Given the description of an element on the screen output the (x, y) to click on. 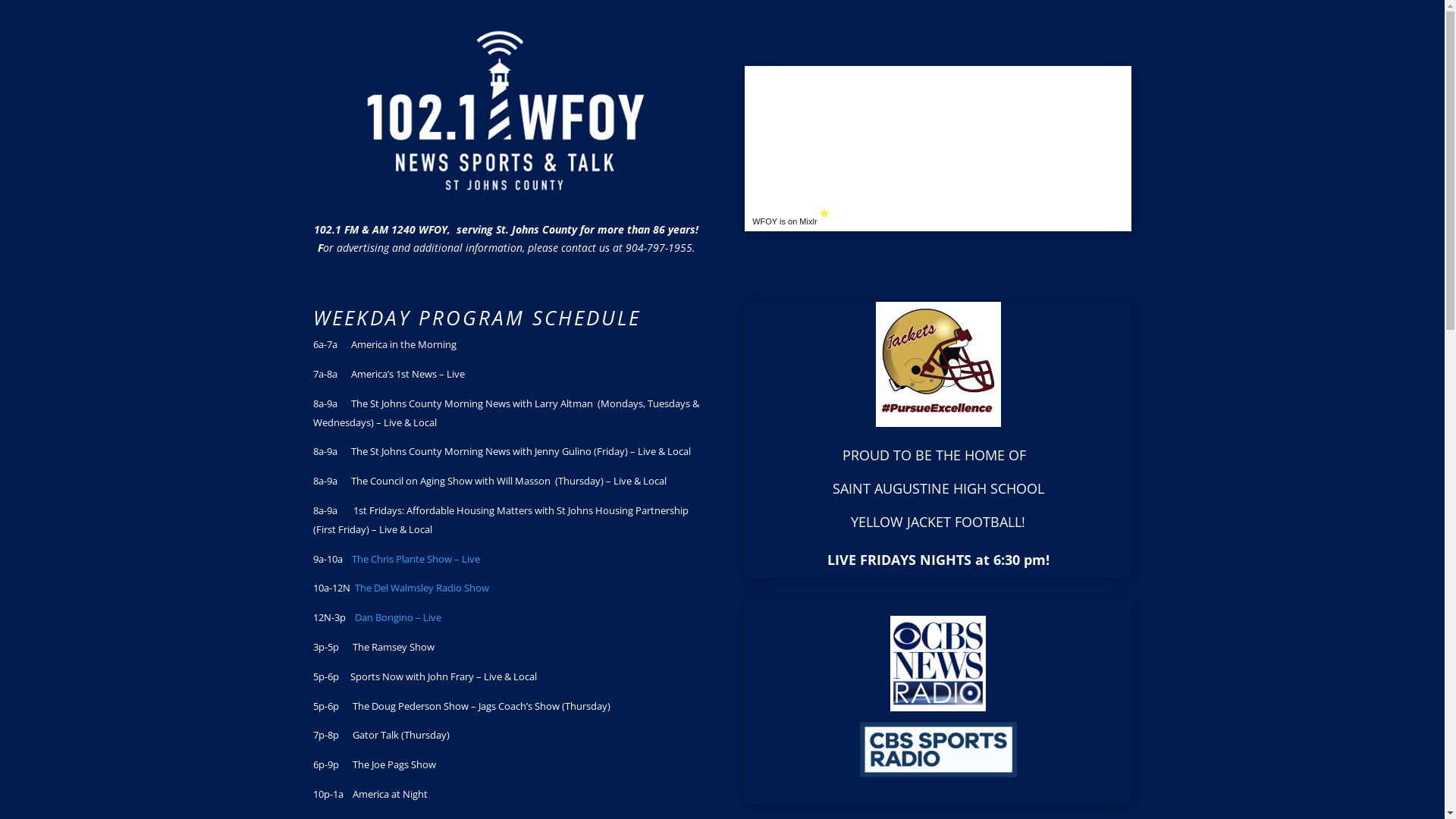
WFOY is on Mixlr Element type: text (784, 220)
The Del Walmsley Radio Show Element type: text (421, 587)
